Given the description of an element on the screen output the (x, y) to click on. 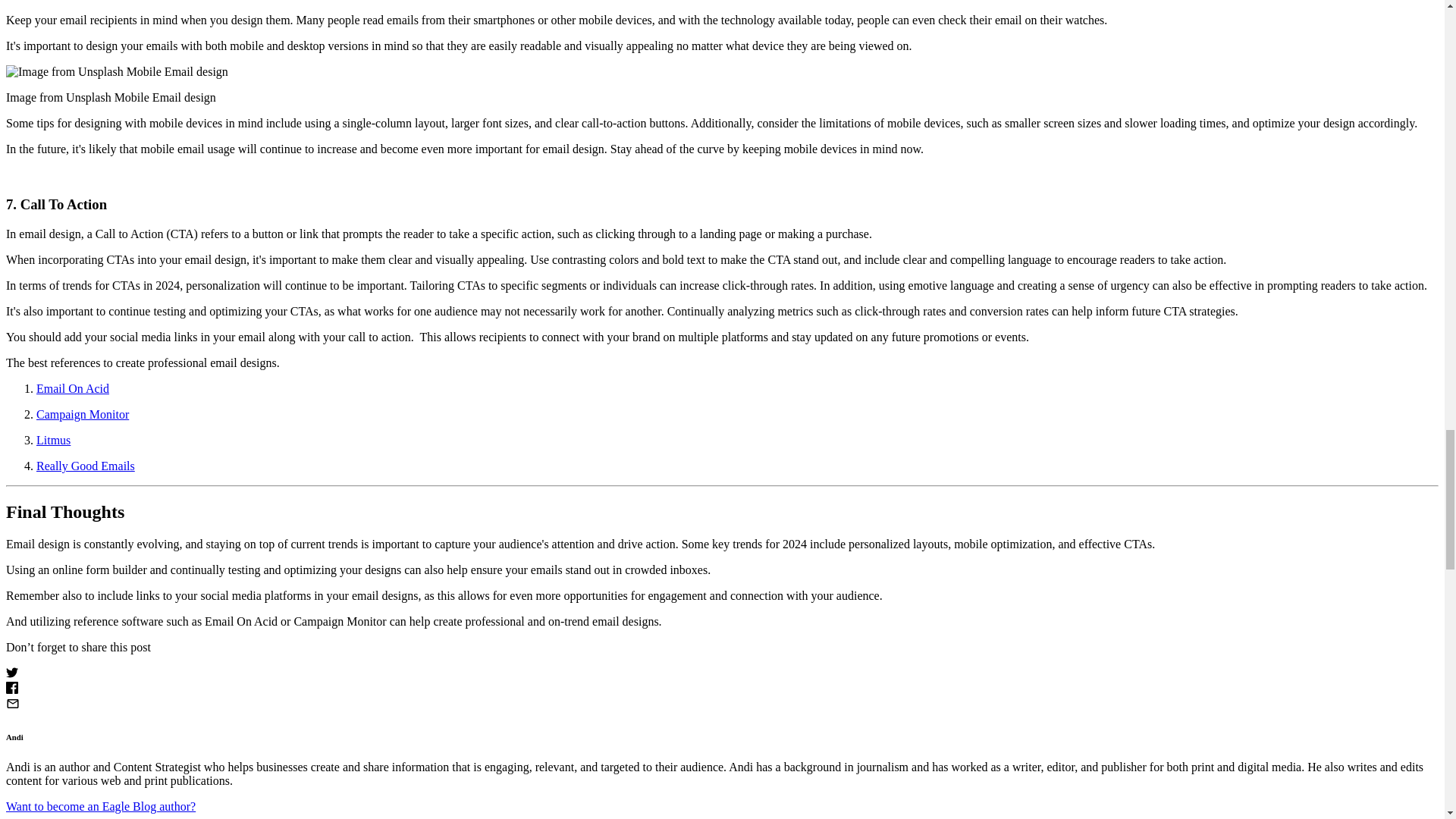
Litmus (52, 440)
Campaign Monitor (82, 413)
Really Good Emails (85, 465)
Email On Acid (72, 388)
Want to become an Eagle Blog author? (100, 805)
